Given the description of an element on the screen output the (x, y) to click on. 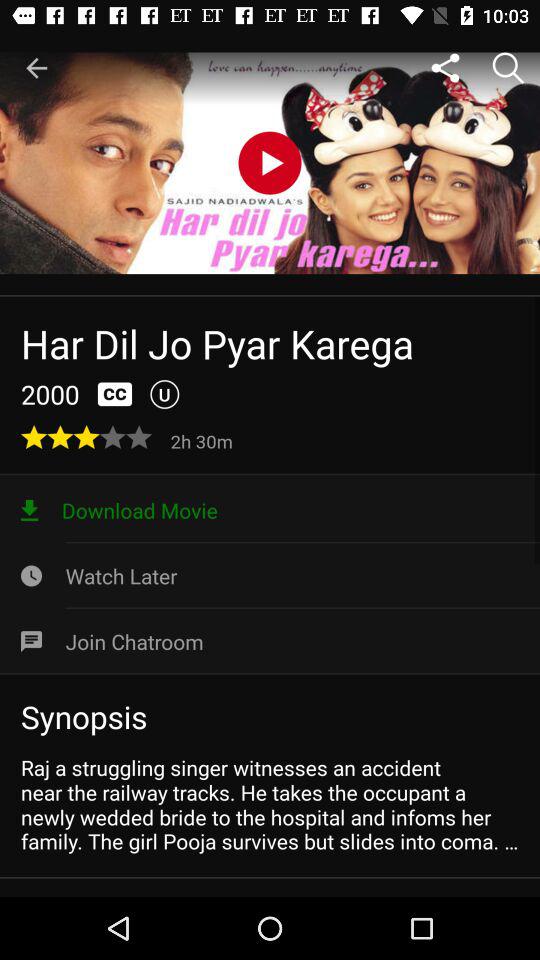
turn off the watch later icon (270, 575)
